Given the description of an element on the screen output the (x, y) to click on. 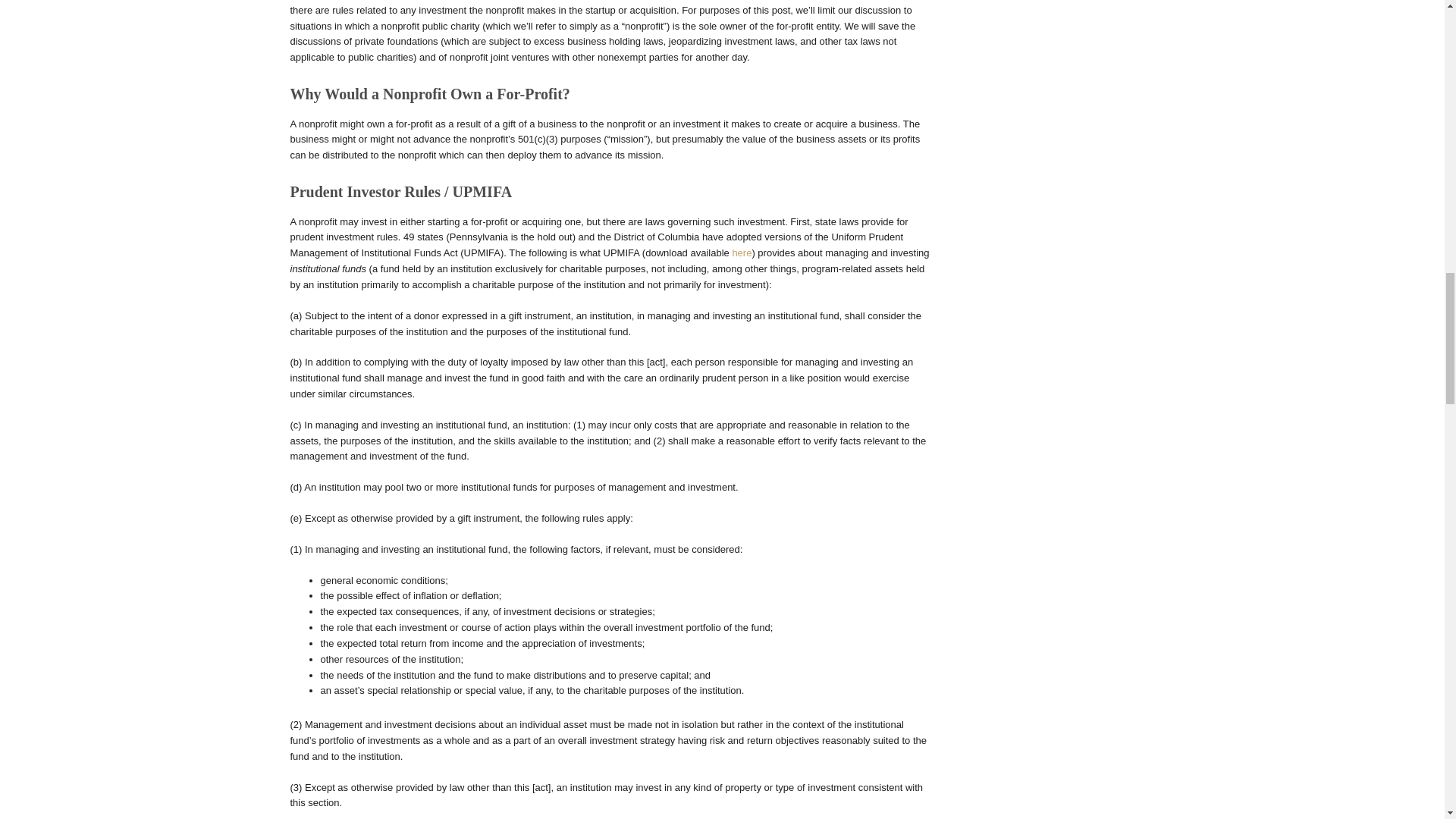
here (741, 252)
